Given the description of an element on the screen output the (x, y) to click on. 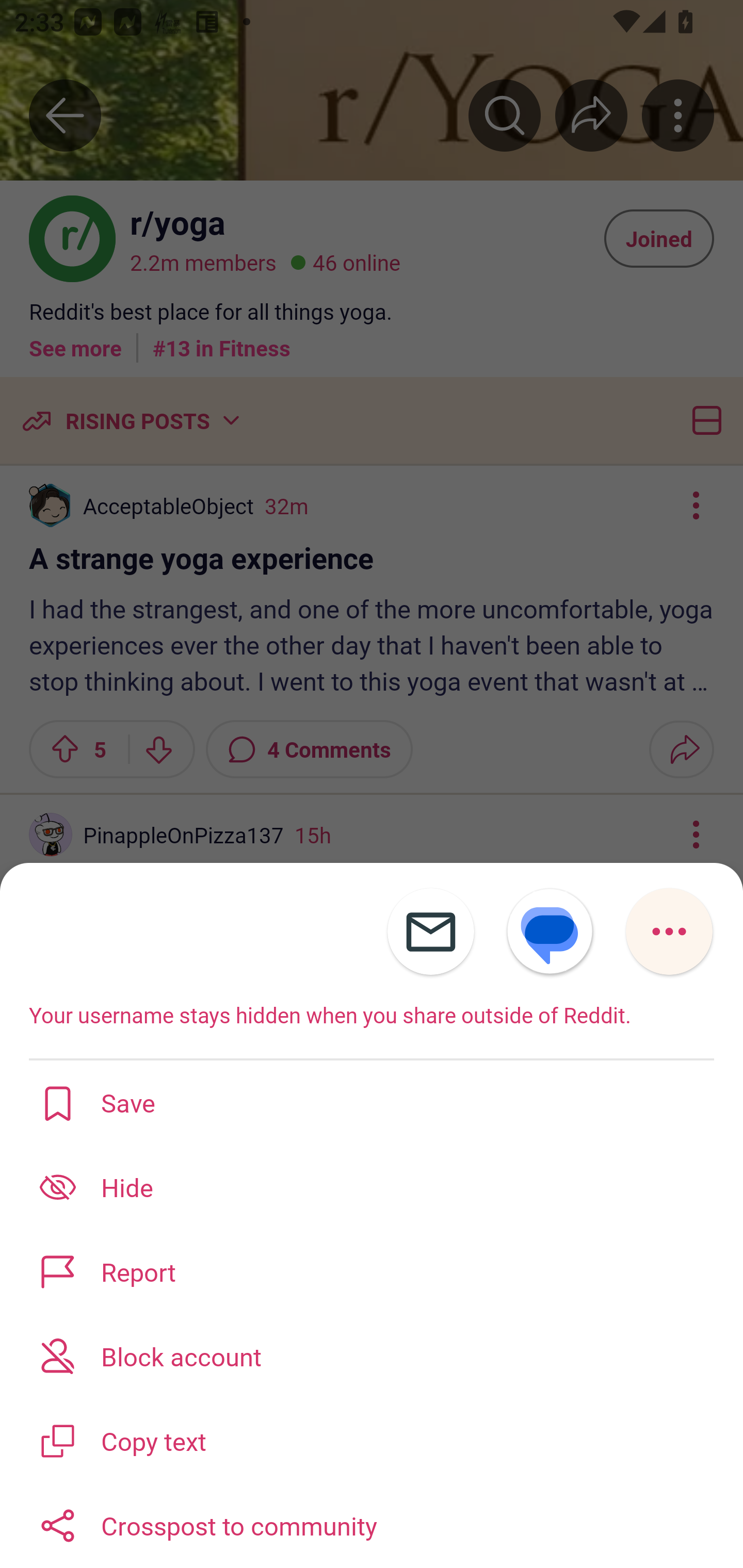
Email (430, 932)
SMS (549, 932)
More (669, 932)
Save (371, 1101)
Hide (371, 1186)
Report (371, 1271)
Block account (371, 1355)
Copy text (371, 1439)
Home (80, 1520)
Communities (225, 1520)
Create a post Create (370, 1520)
Chat (516, 1520)
Inbox, has 5 notifications 5 Inbox (662, 1520)
